Given the description of an element on the screen output the (x, y) to click on. 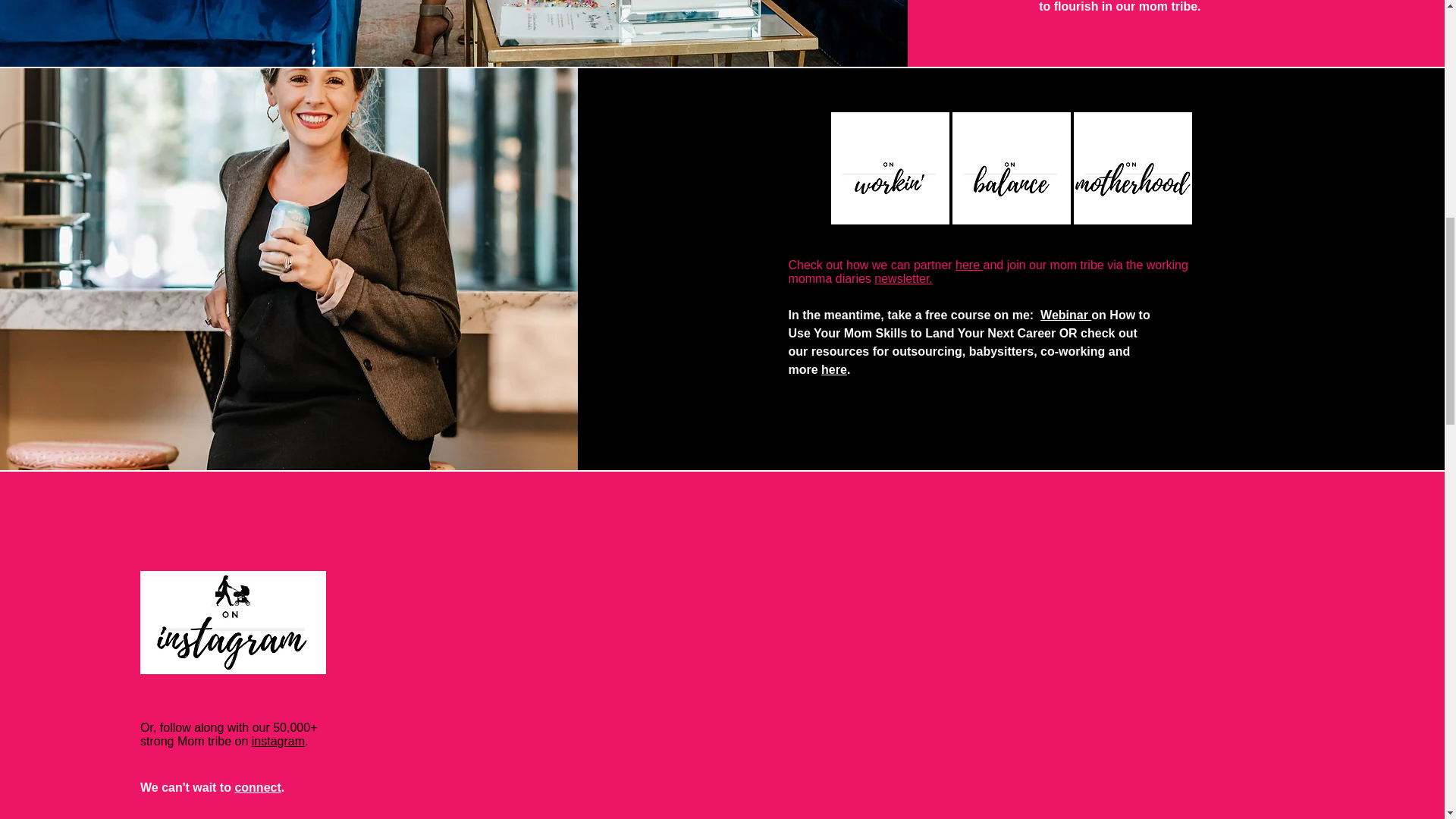
here  (968, 264)
connect (257, 787)
newsletter. (903, 278)
instagram (277, 740)
Webinar (1065, 314)
here (834, 369)
